Given the description of an element on the screen output the (x, y) to click on. 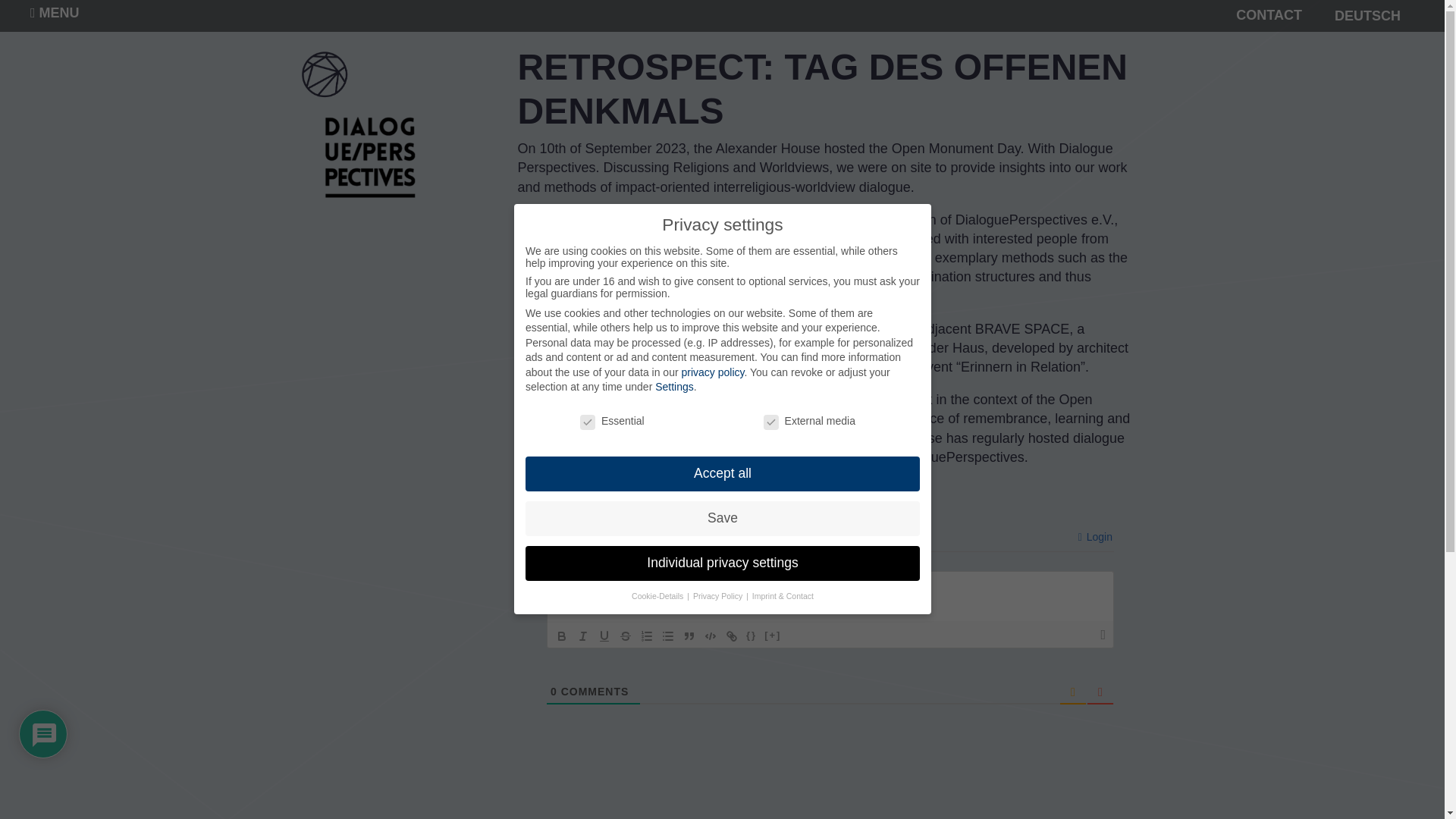
Strike (625, 636)
Code Block (710, 636)
Unordered List (668, 636)
Blockquote (689, 636)
DEUTSCH (1366, 15)
Spoiler (772, 636)
MENU (55, 12)
Login (1095, 536)
Underline (604, 636)
bullet (668, 636)
CONTACT (1268, 14)
Italic (583, 636)
Source Code (751, 636)
Link (731, 636)
ordered (647, 636)
